Given the description of an element on the screen output the (x, y) to click on. 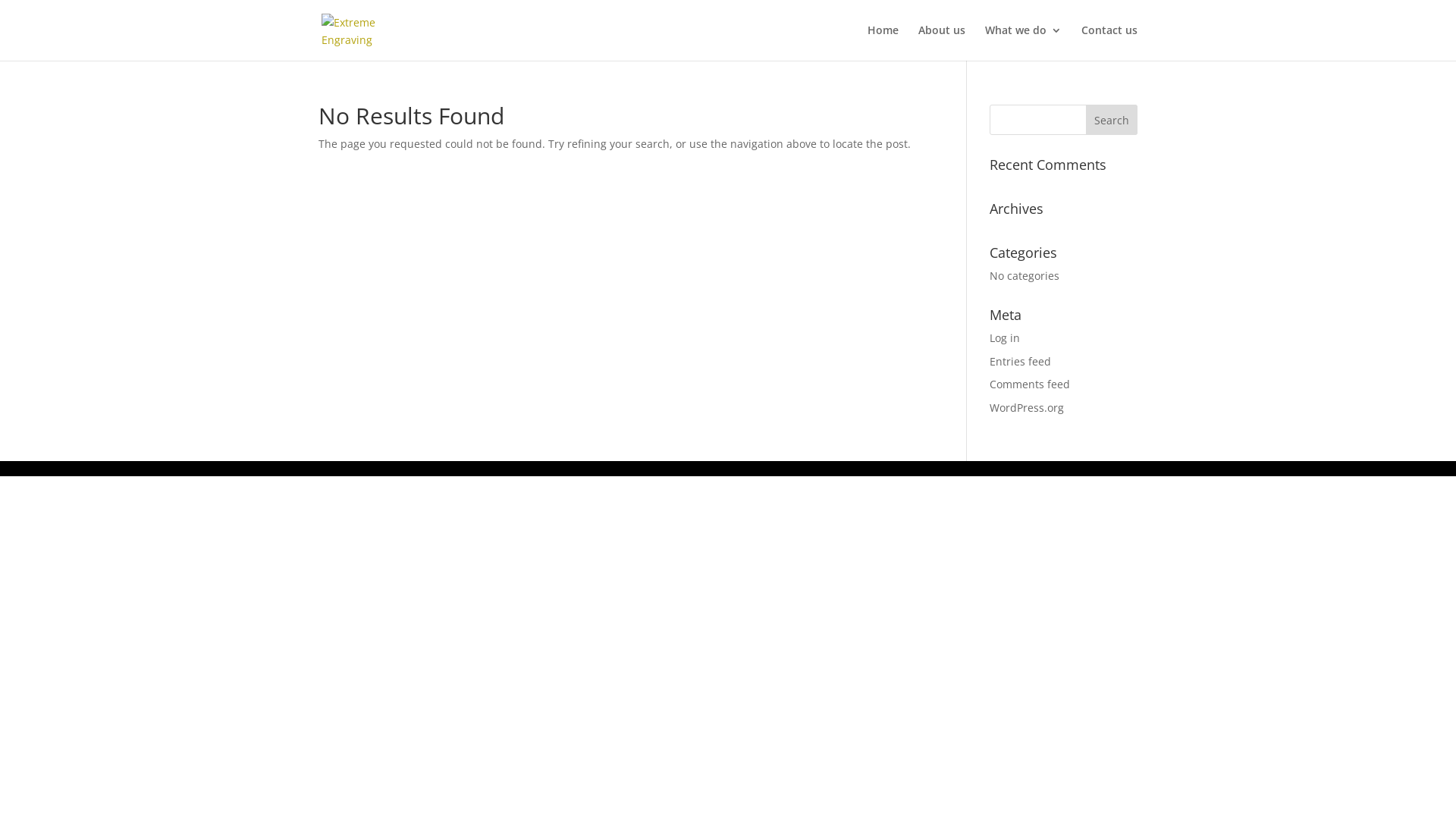
WordPress.org Element type: text (1026, 407)
About us Element type: text (941, 42)
Entries feed Element type: text (1020, 361)
Log in Element type: text (1004, 337)
Contact us Element type: text (1109, 42)
Home Element type: text (882, 42)
Comments feed Element type: text (1029, 383)
What we do Element type: text (1023, 42)
Search Element type: text (1111, 119)
